Given the description of an element on the screen output the (x, y) to click on. 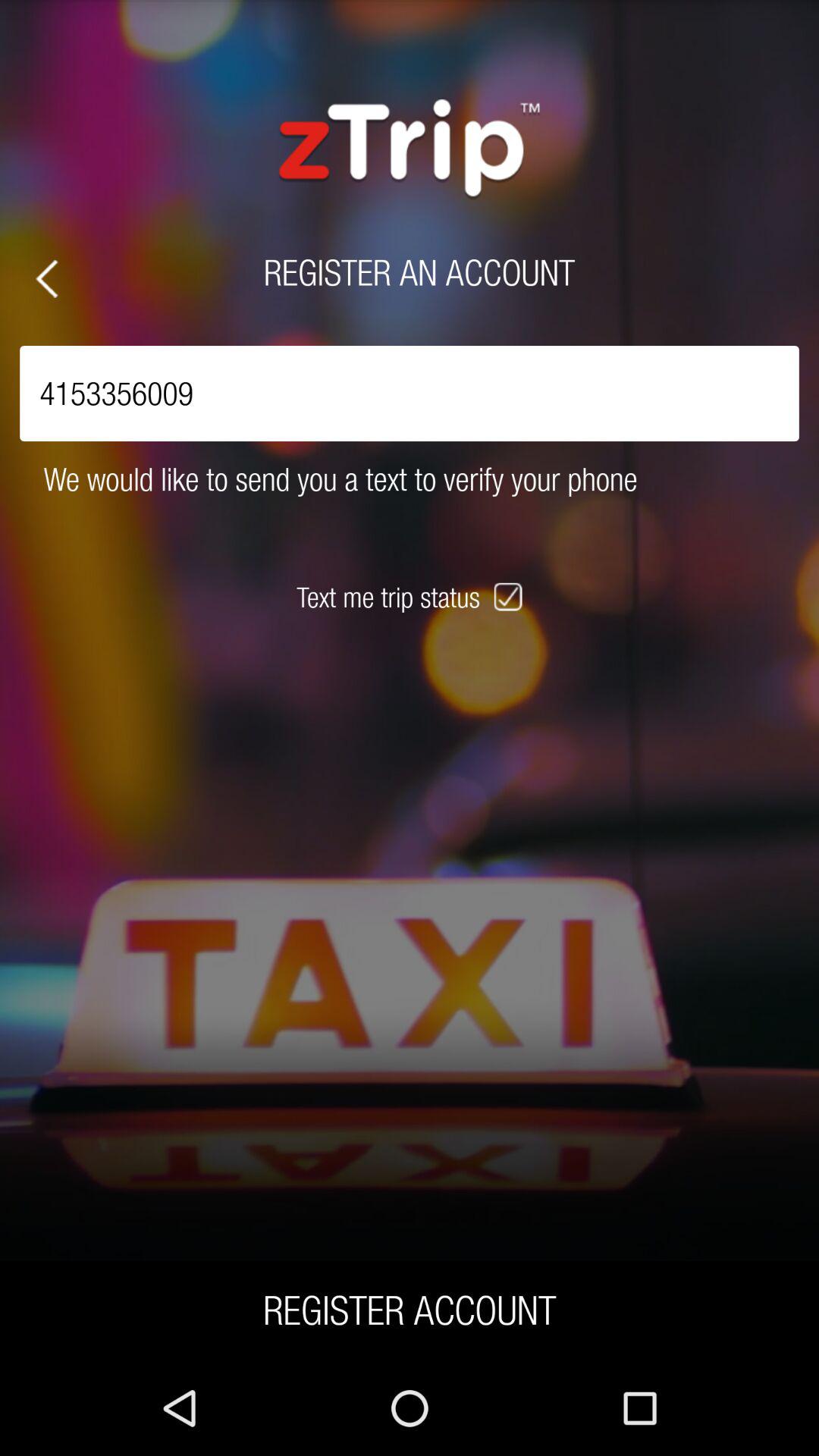
tap the icon at the top left corner (46, 278)
